Given the description of an element on the screen output the (x, y) to click on. 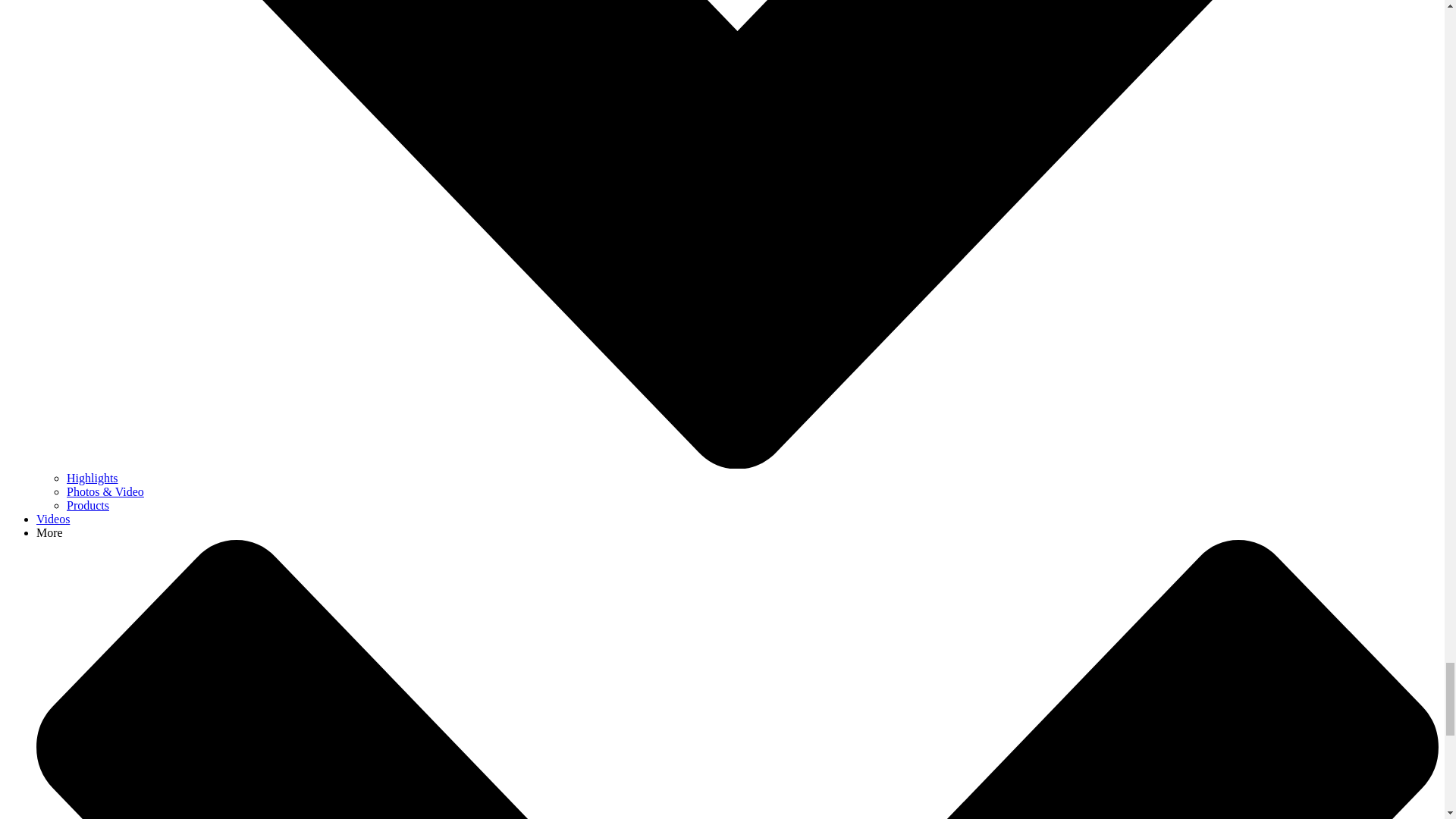
Highlights (91, 477)
Videos (52, 518)
Products (87, 504)
More (49, 532)
